Given the description of an element on the screen output the (x, y) to click on. 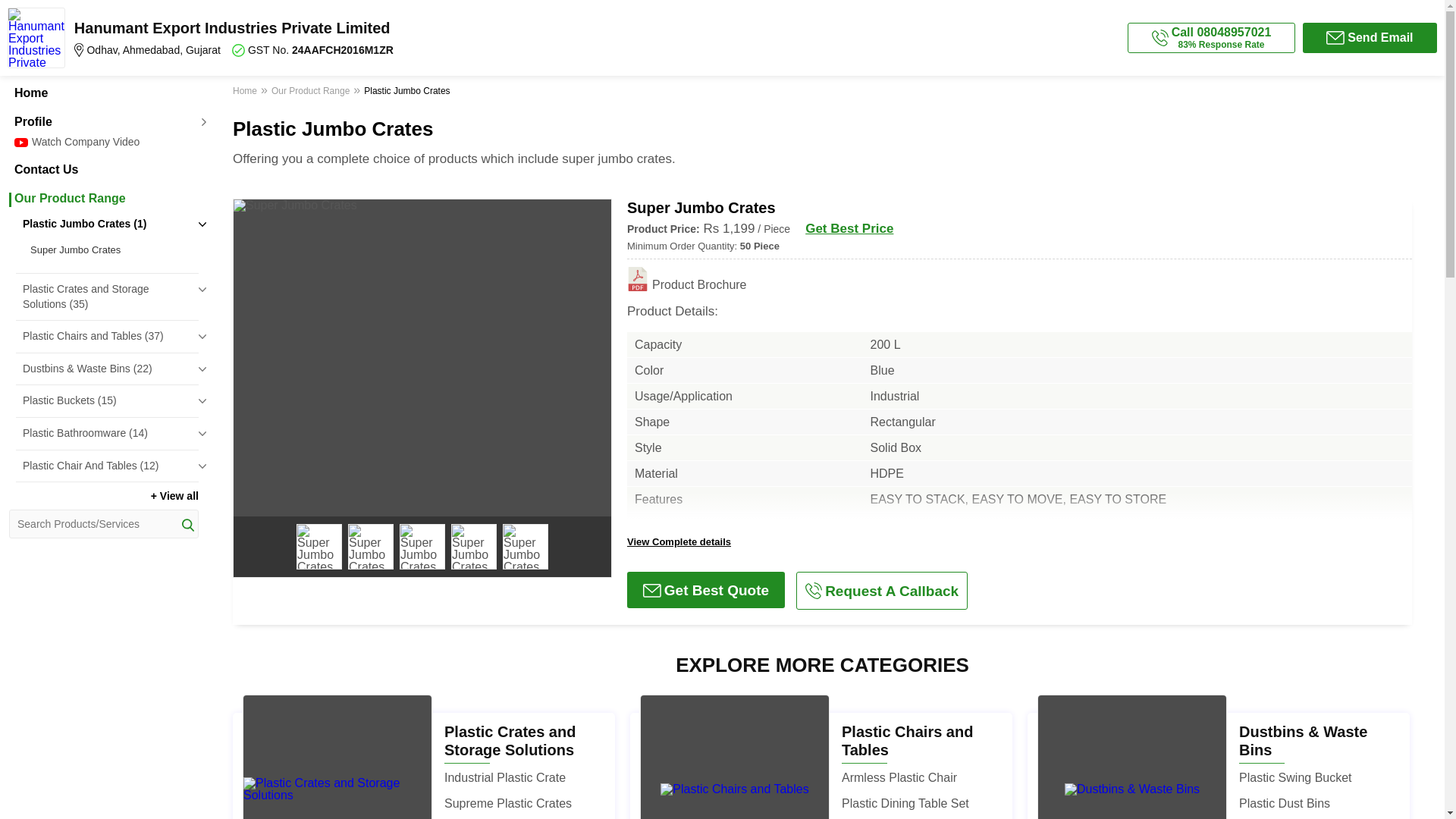
Super Jumbo Crates (110, 250)
Home (103, 92)
Our Product Range (103, 198)
Contact Us (103, 169)
Profile (103, 121)
